Given the description of an element on the screen output the (x, y) to click on. 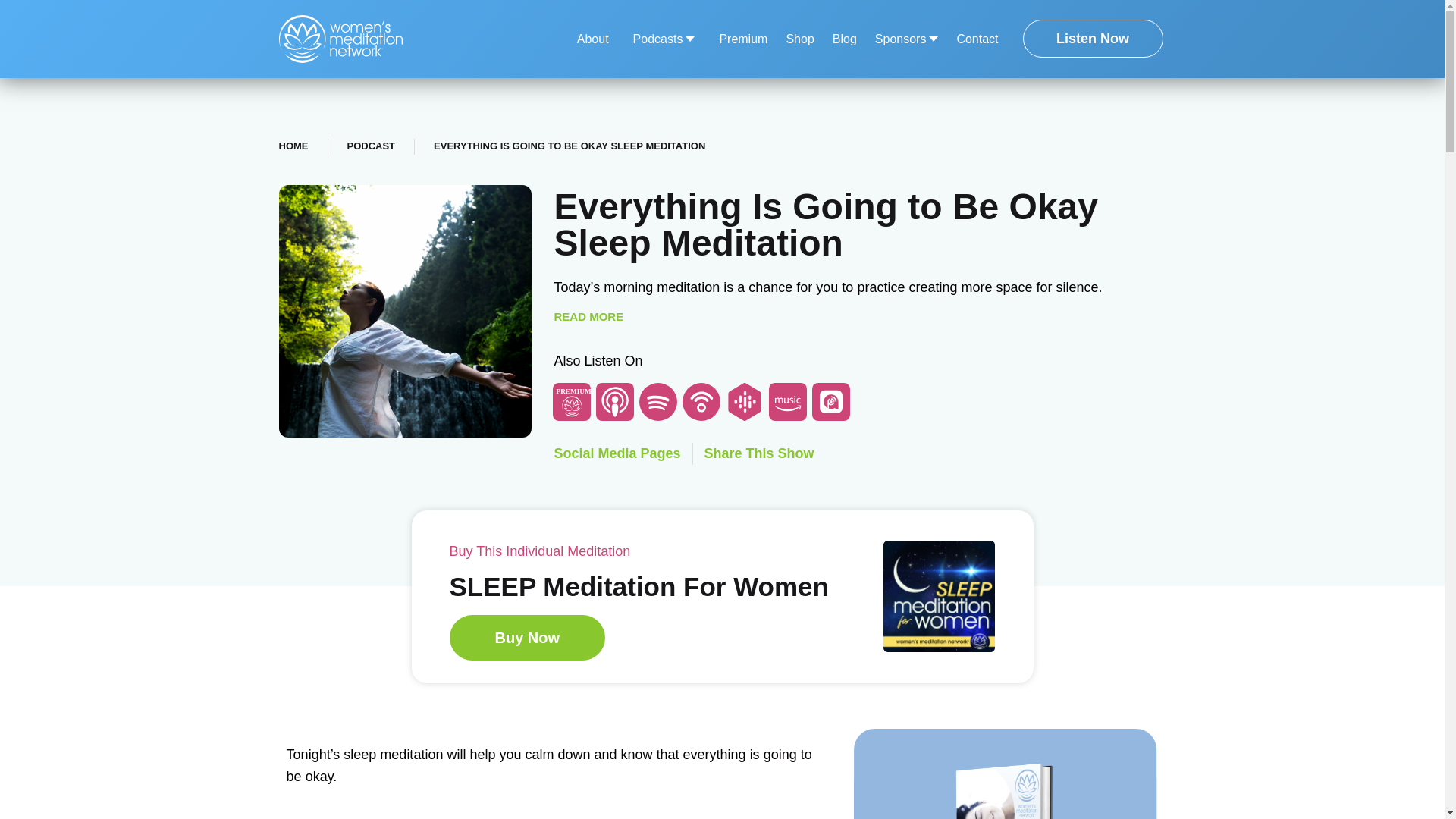
PREMIUM (572, 401)
About (592, 39)
Podcasts (663, 39)
